Given the description of an element on the screen output the (x, y) to click on. 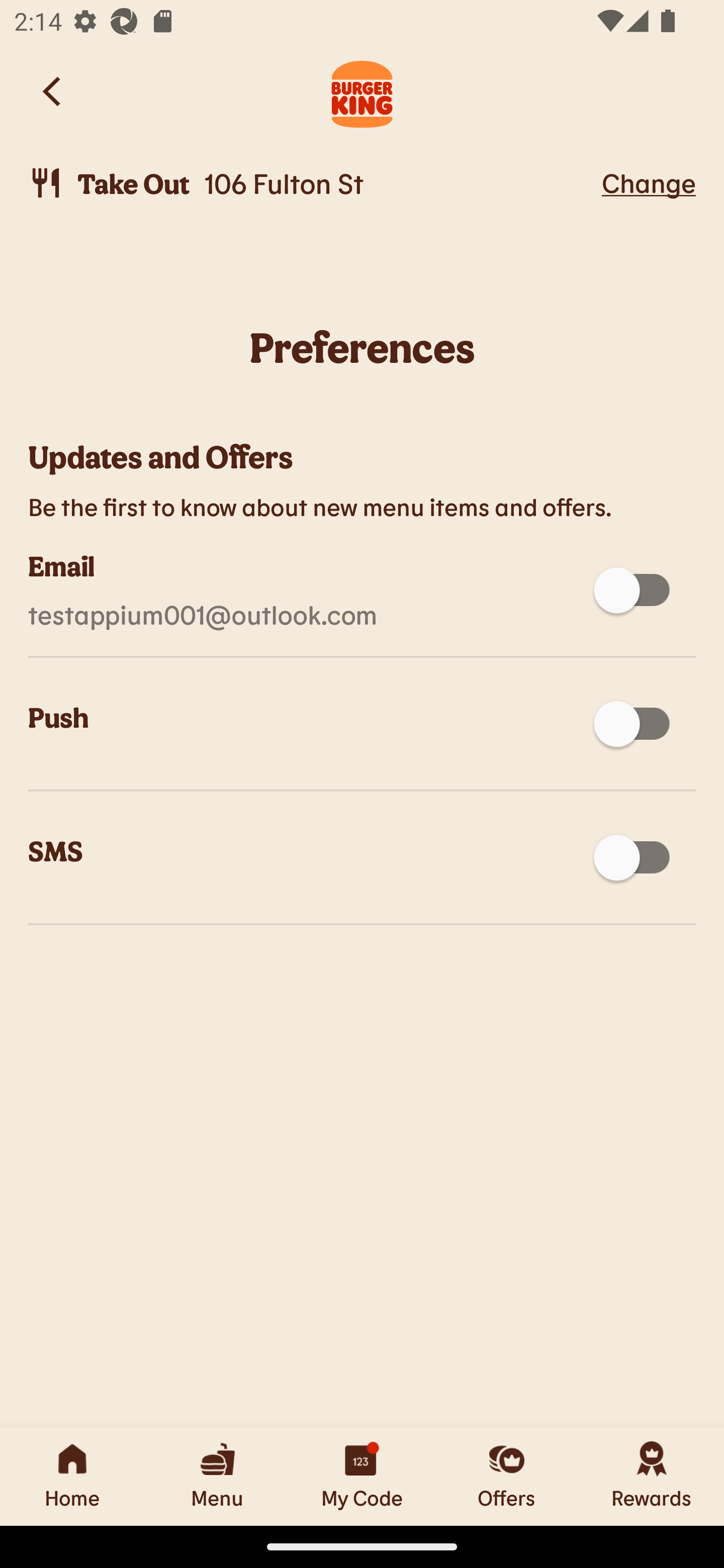
Burger King Logo. Navigate to Home (362, 91)
Back (52, 91)
Take Out, 106 Fulton St  Take Out 106 Fulton St (311, 183)
Change (648, 182)
Home (72, 1475)
Menu (216, 1475)
My Code (361, 1475)
Offers (506, 1475)
Rewards (651, 1475)
